Given the description of an element on the screen output the (x, y) to click on. 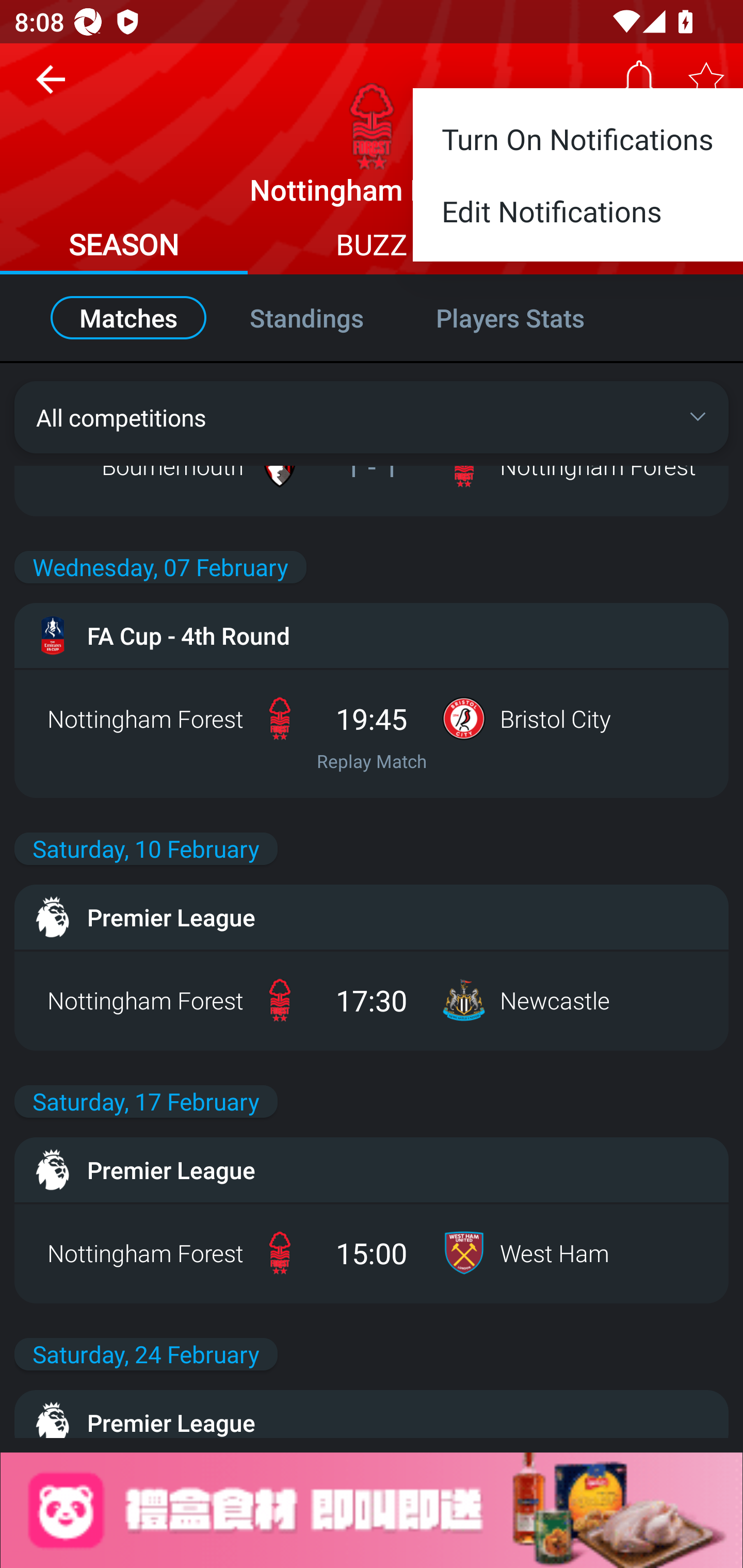
Turn On Notifications (578, 131)
Edit Notifications (578, 218)
